Given the description of an element on the screen output the (x, y) to click on. 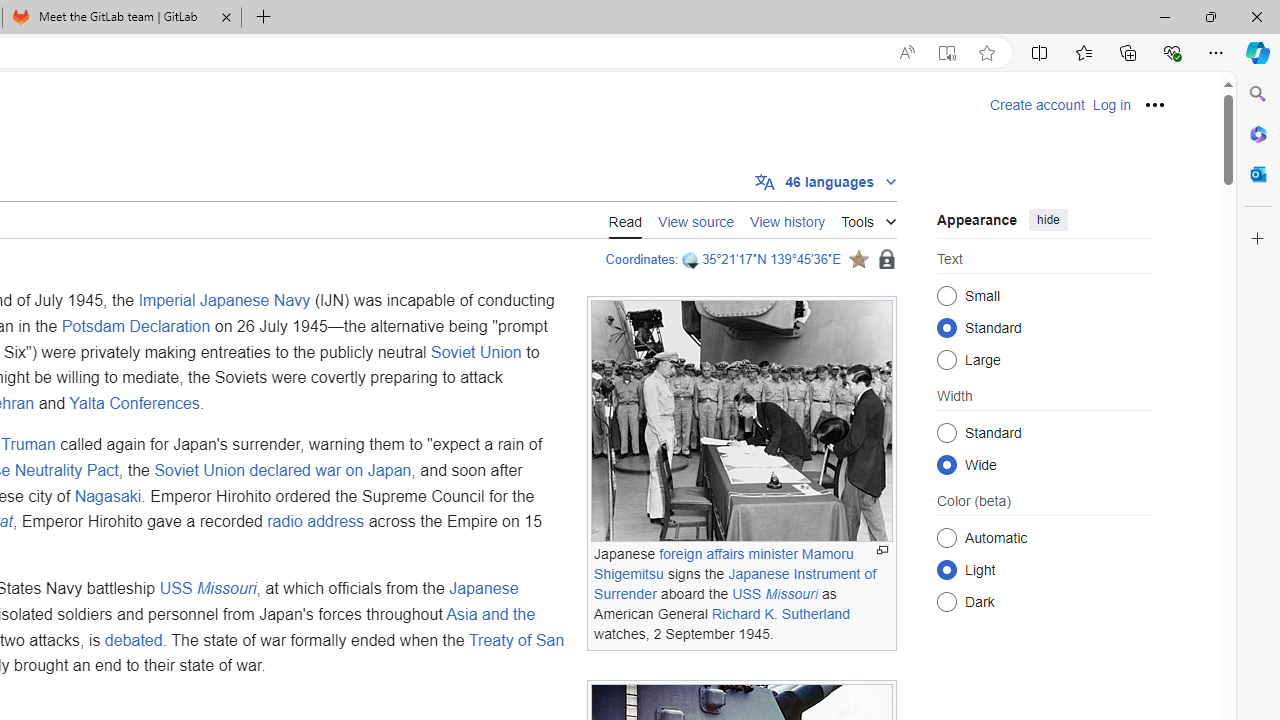
Nagasaki (108, 495)
Personal tools (1155, 104)
debated (132, 639)
Dark (946, 601)
Richard K. Sutherland (780, 613)
Soviet Union declared war on Japan (282, 469)
Show location on an interactive map (692, 260)
Page semi-protected (886, 259)
Log in (1111, 105)
Yalta Conferences (134, 402)
